Given the description of an element on the screen output the (x, y) to click on. 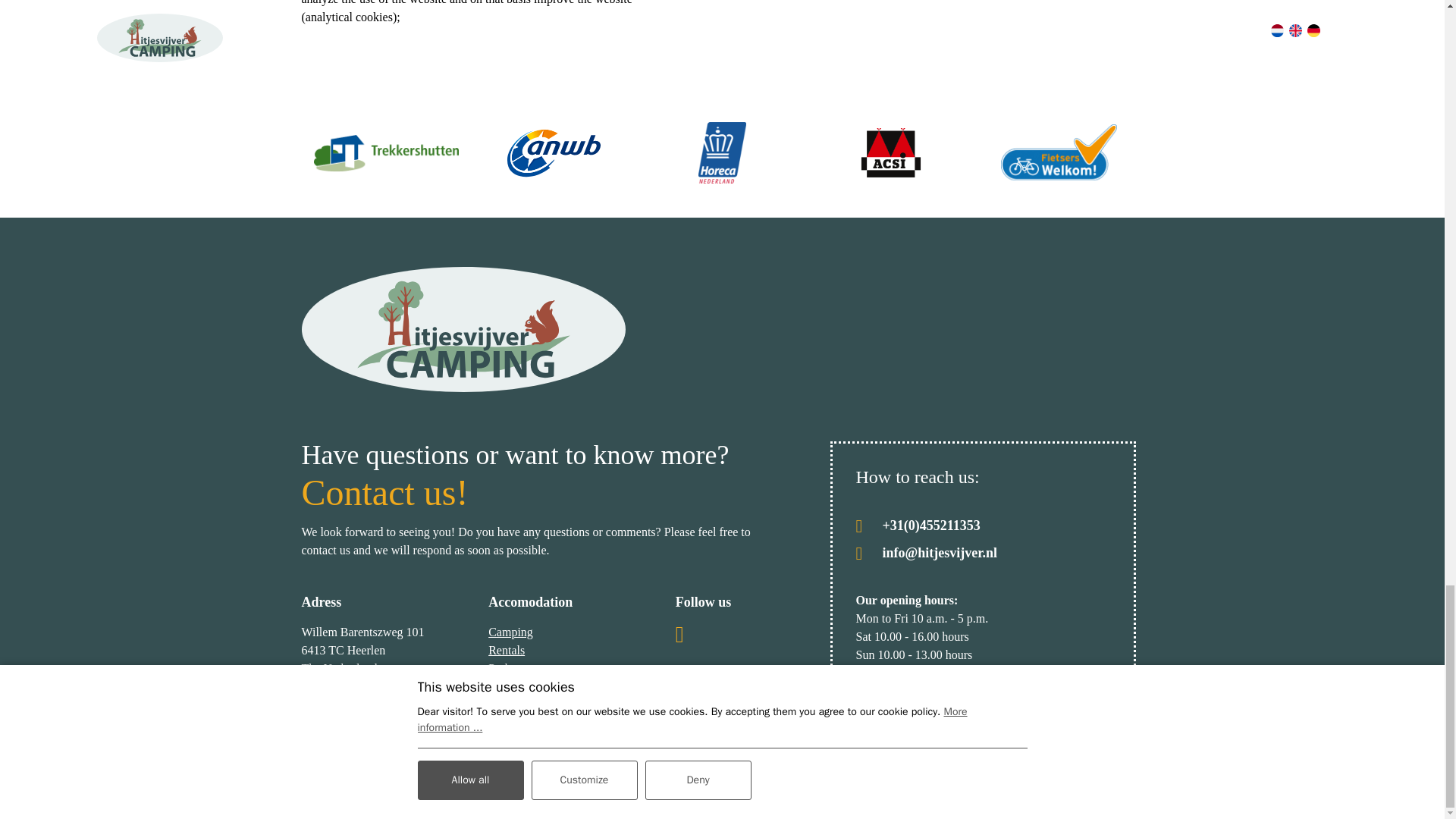
Camping (509, 631)
Algemene voorwaarden (403, 787)
Impressions (517, 686)
Algemene voorwaarden (403, 787)
park map (510, 667)
hitjesvijver (463, 329)
Impressions (517, 686)
Rentals (505, 649)
Park map (510, 667)
Rentals (505, 649)
